Given the description of an element on the screen output the (x, y) to click on. 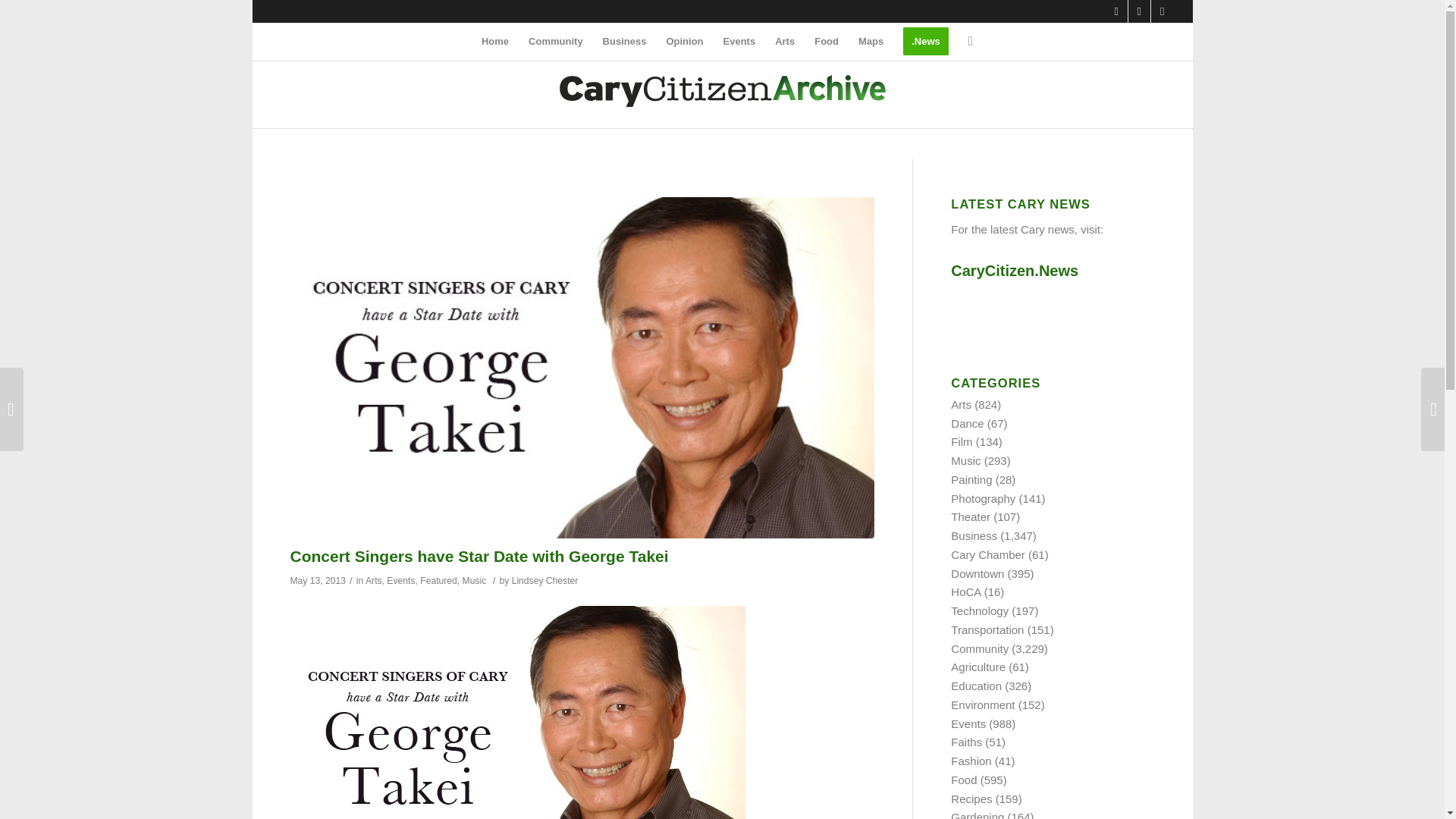
Events (400, 580)
Community (555, 41)
Concert Singers have Star Date with George Takei (478, 556)
Music (474, 580)
Featured (438, 580)
Lindsey Chester (545, 580)
Home (494, 41)
Arts (373, 580)
Events (739, 41)
